Given the description of an element on the screen output the (x, y) to click on. 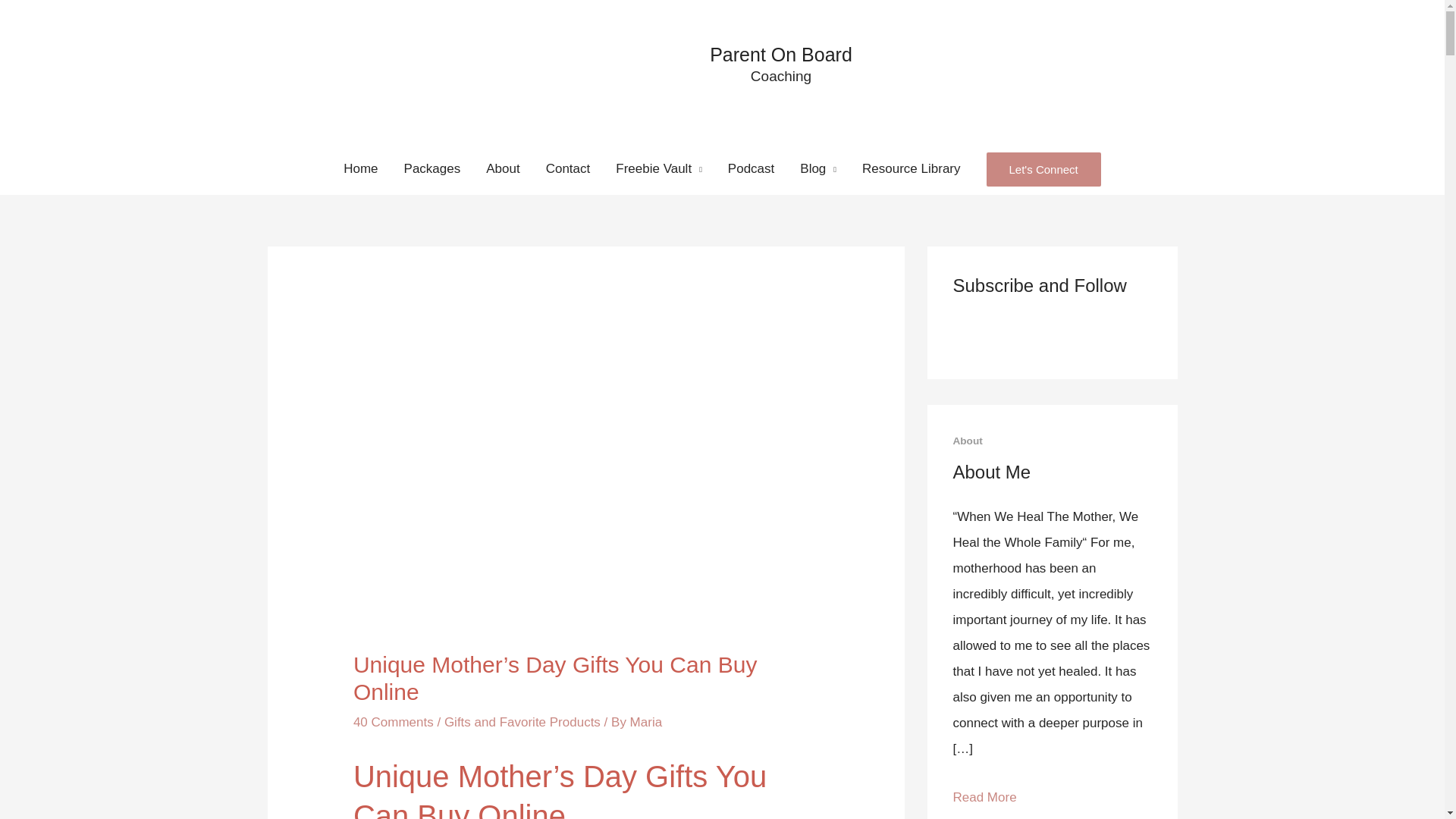
Let's Connect (1043, 168)
40 Comments (393, 721)
tiktok (1069, 334)
Blog (817, 168)
instagram (1035, 332)
About (502, 168)
Podcast (750, 168)
Freebie Vault (658, 168)
Maria (646, 721)
Packages (432, 168)
